Given the description of an element on the screen output the (x, y) to click on. 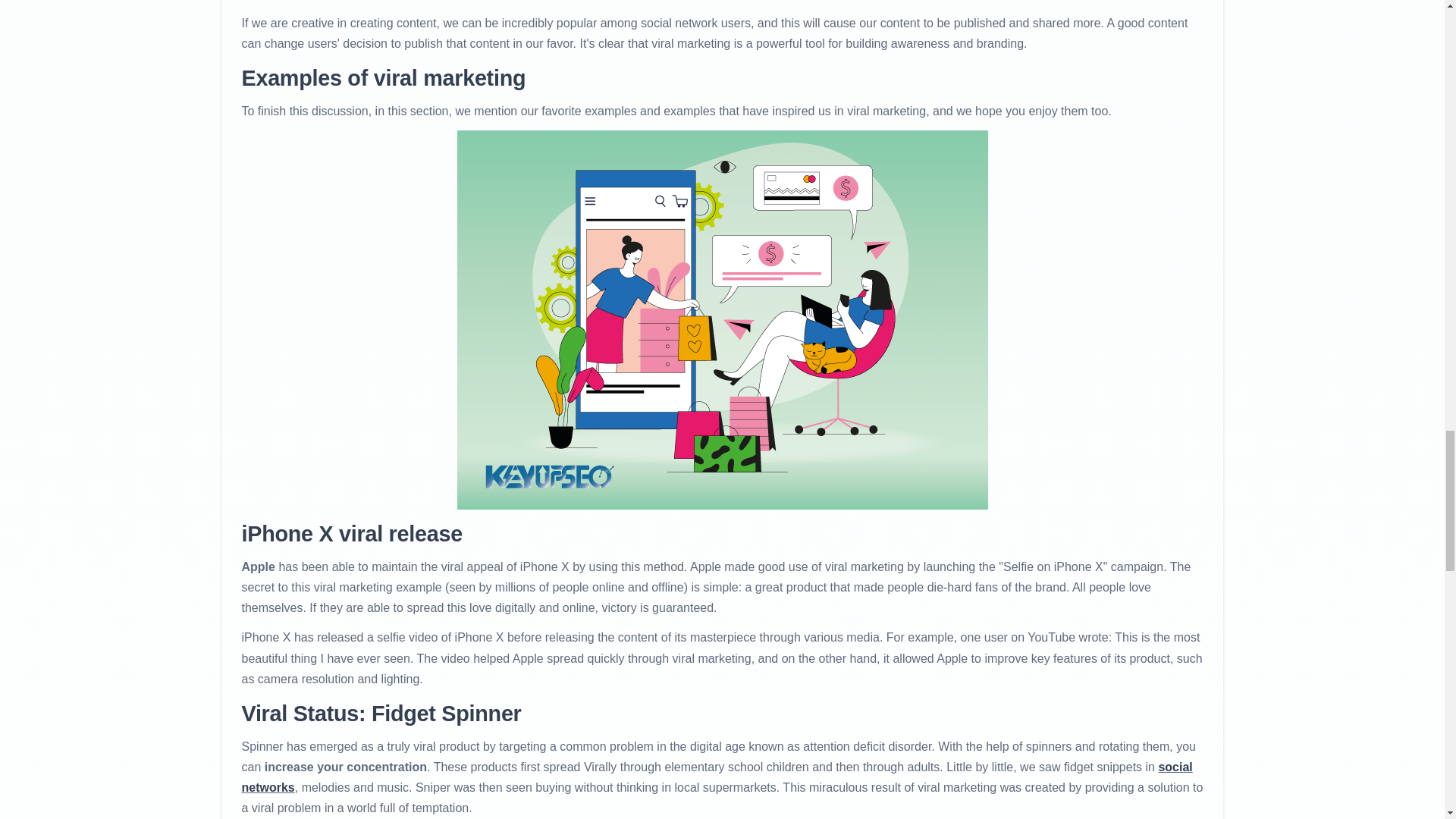
social networks (716, 776)
